Given the description of an element on the screen output the (x, y) to click on. 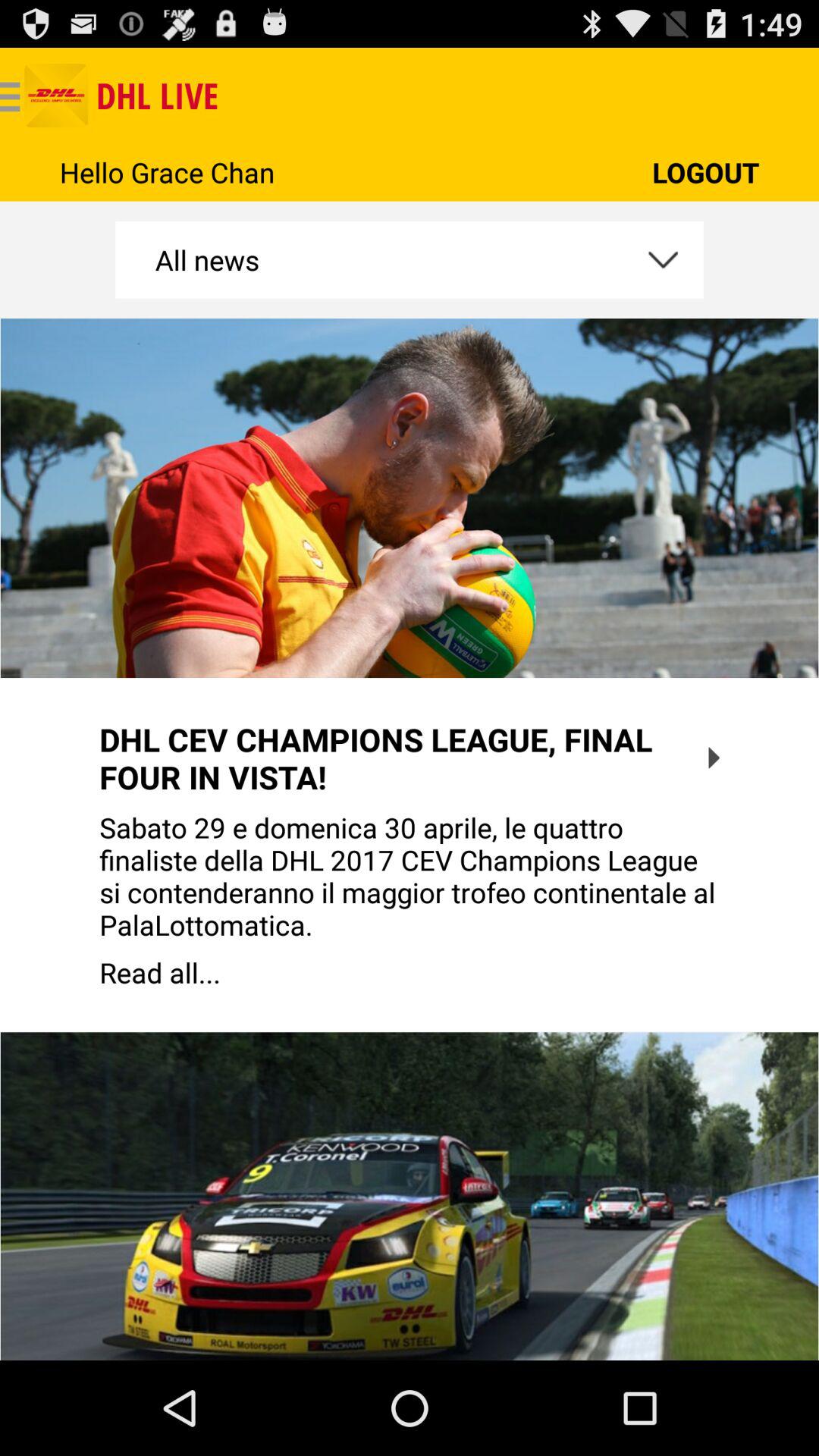
open read all... item (409, 972)
